Given the description of an element on the screen output the (x, y) to click on. 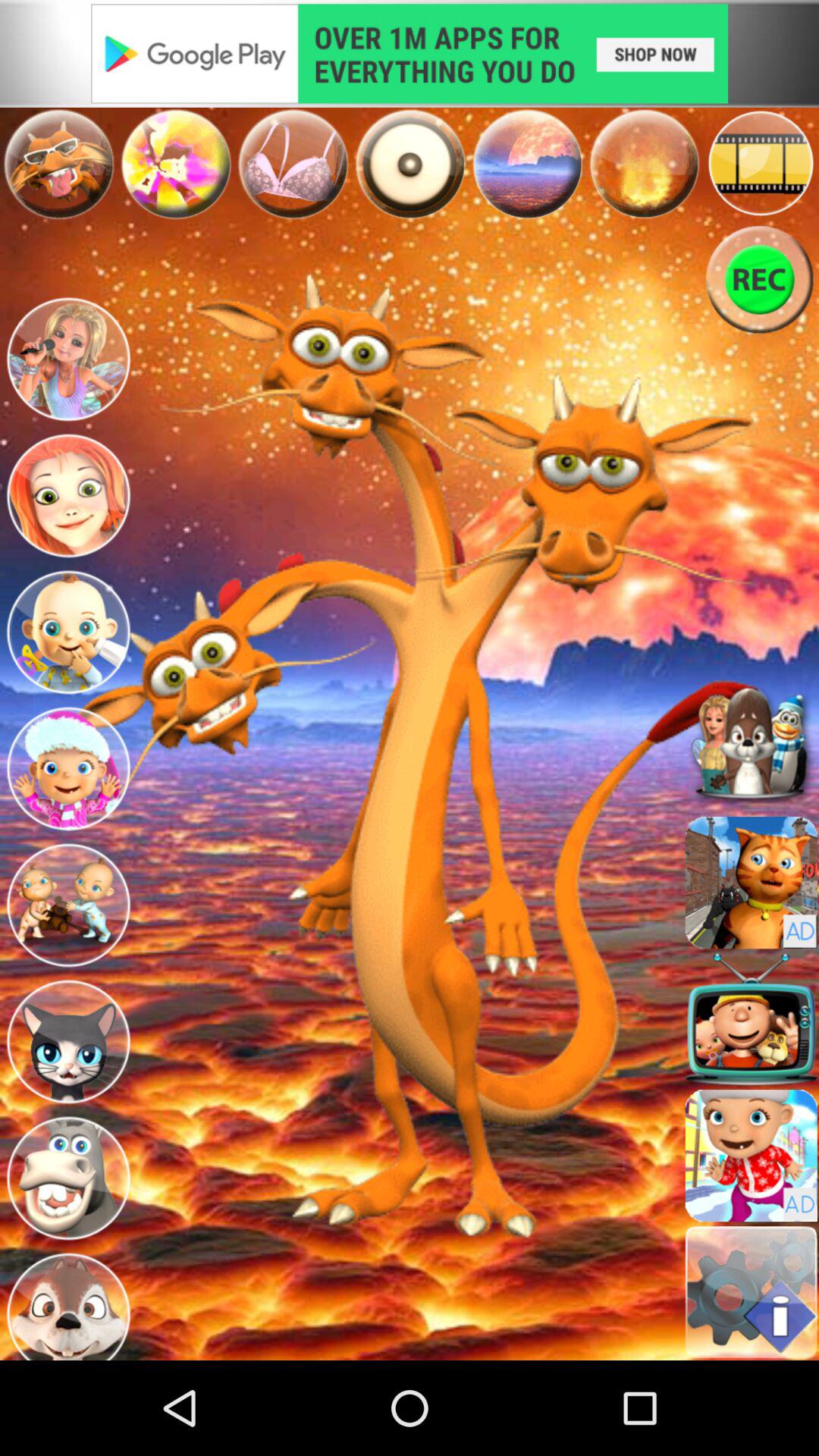
advertisement bar (409, 53)
